Given the description of an element on the screen output the (x, y) to click on. 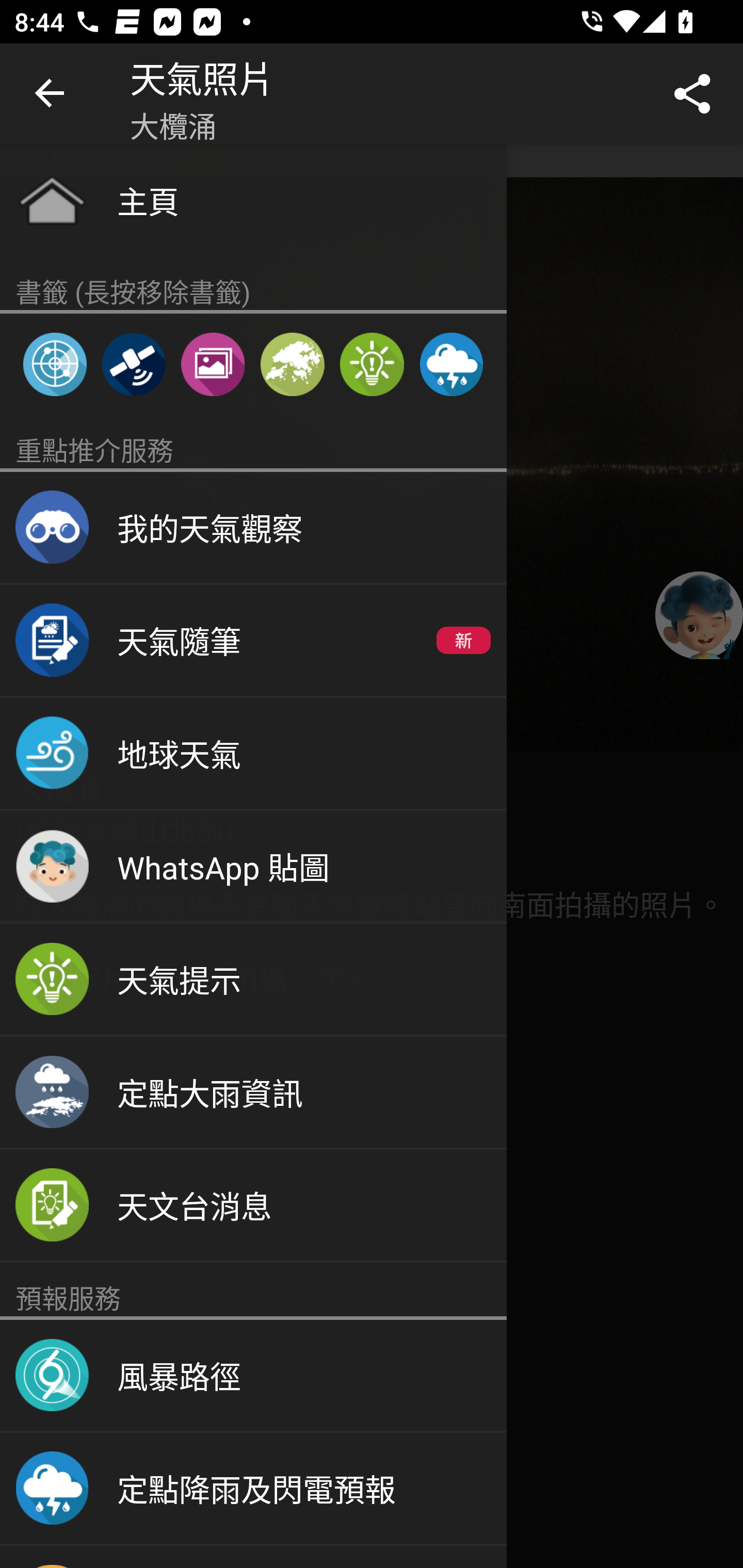
向上瀏覽 (50, 93)
分享 (692, 93)
主頁 (253, 199)
雷達圖像 (54, 364)
衛星圖像 (133, 364)
天氣照片 (212, 364)
分區天氣 (292, 364)
天氣提示 (371, 364)
定點降雨及閃電預報 (451, 364)
我的天氣觀察 (253, 527)
天氣隨筆 新功能 (253, 640)
地球天氣 (253, 753)
WhatsApp 貼圖 (253, 866)
天氣提示 (253, 979)
定點大雨資訊 (253, 1092)
天文台消息 (253, 1205)
風暴路徑 (253, 1375)
定點降雨及閃電預報 (253, 1488)
